Given the description of an element on the screen output the (x, y) to click on. 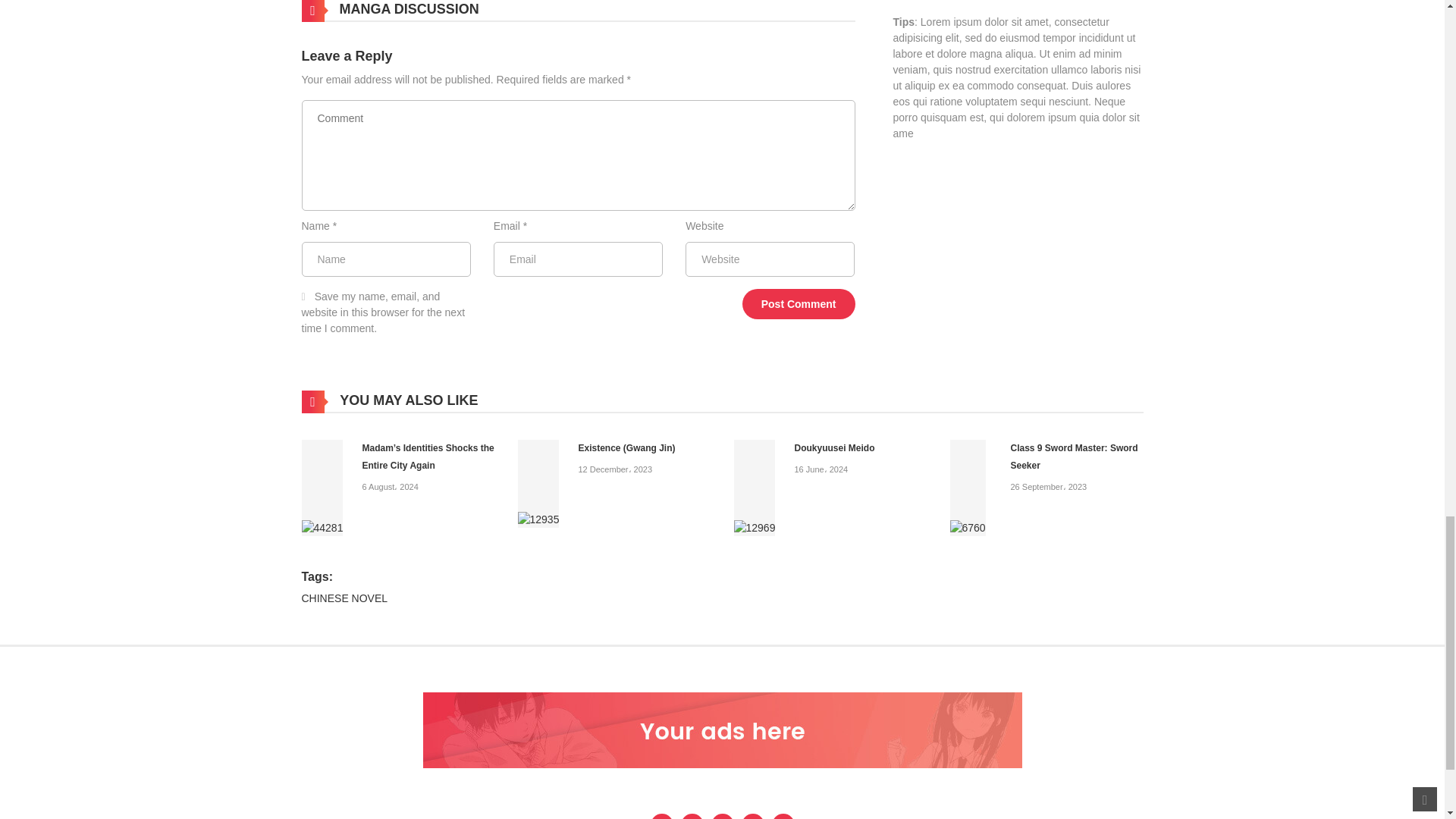
Doukyuusei Meido (834, 448)
Post Comment (799, 304)
Class 9 Sword Master: Sword Seeker (967, 487)
Doukyuusei Meido (754, 487)
